Given the description of an element on the screen output the (x, y) to click on. 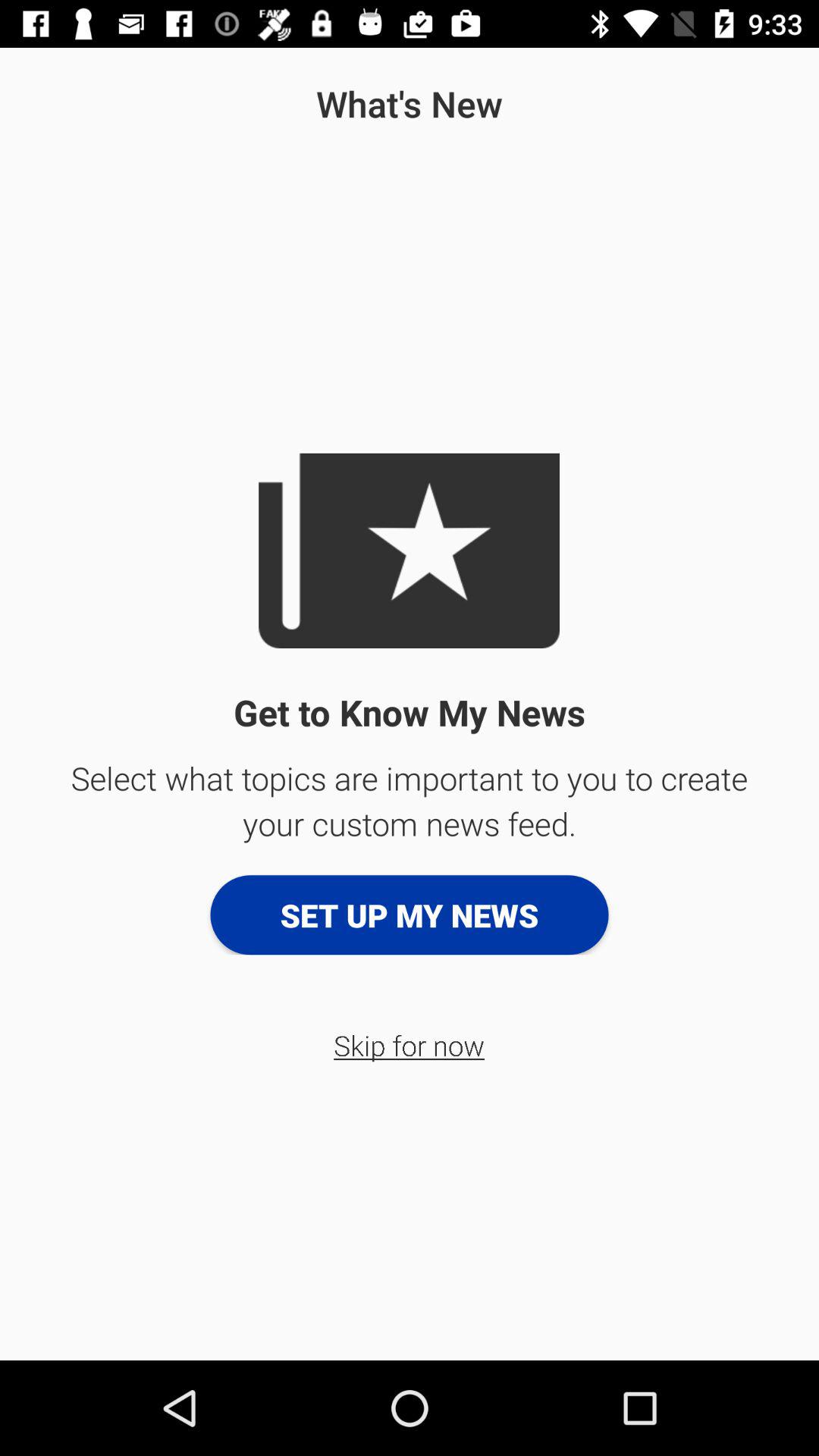
flip until the skip for now app (409, 1044)
